Given the description of an element on the screen output the (x, y) to click on. 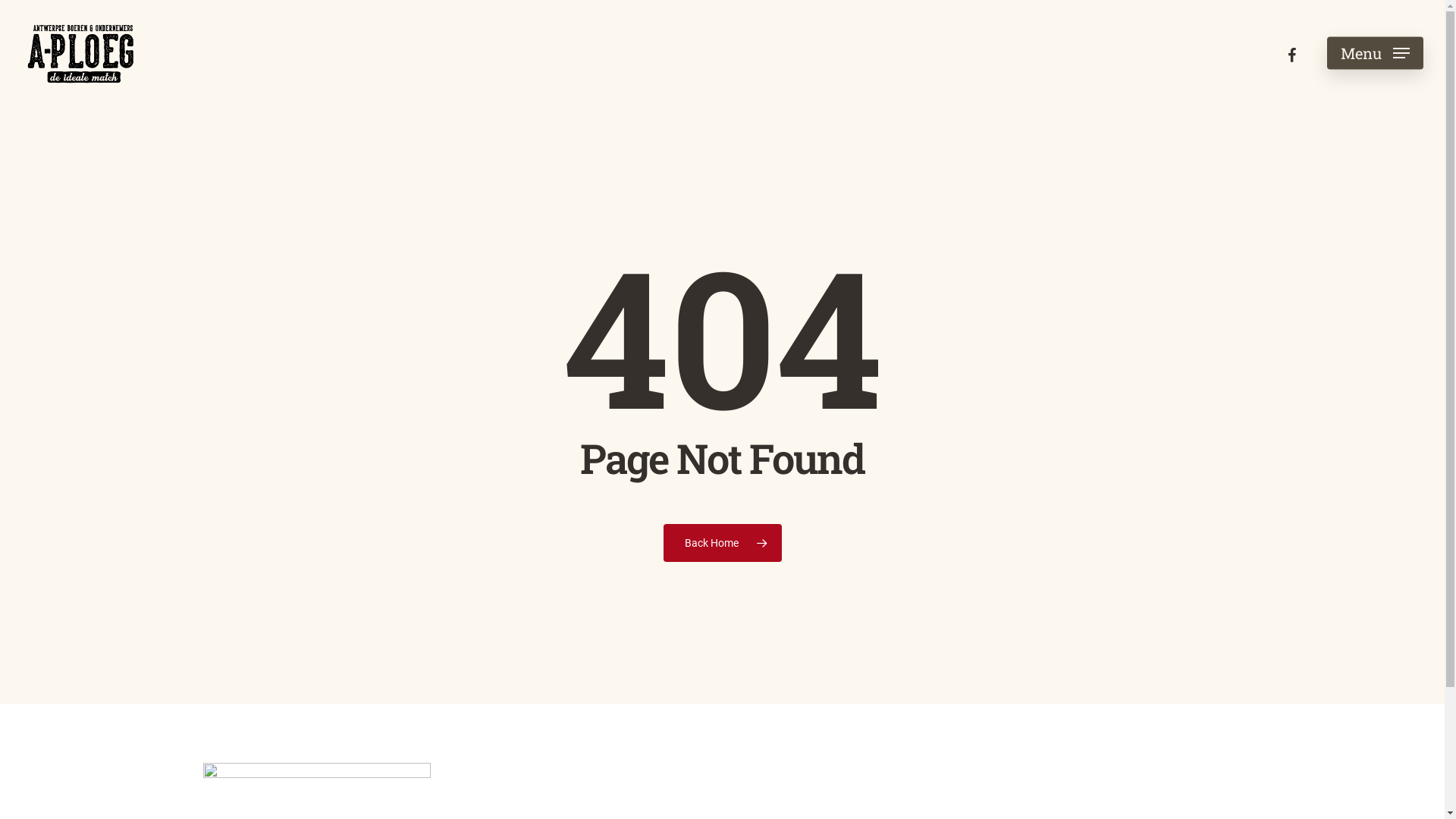
Back Home Element type: text (721, 542)
facebook Element type: text (1291, 52)
Menu Element type: text (1375, 53)
